Given the description of an element on the screen output the (x, y) to click on. 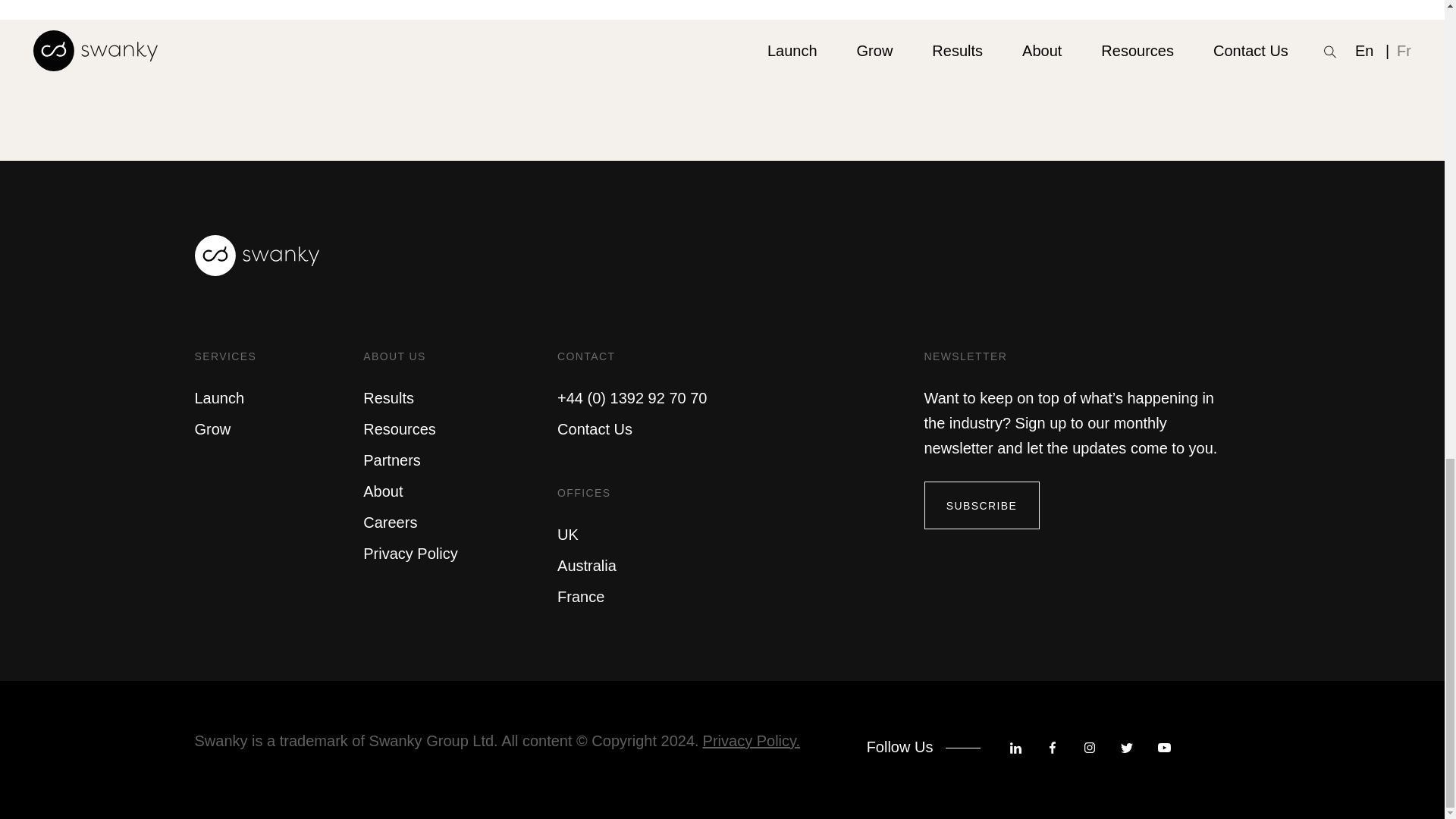
France (580, 596)
UK (567, 534)
Contact Us (594, 429)
Australia (586, 565)
